Given the description of an element on the screen output the (x, y) to click on. 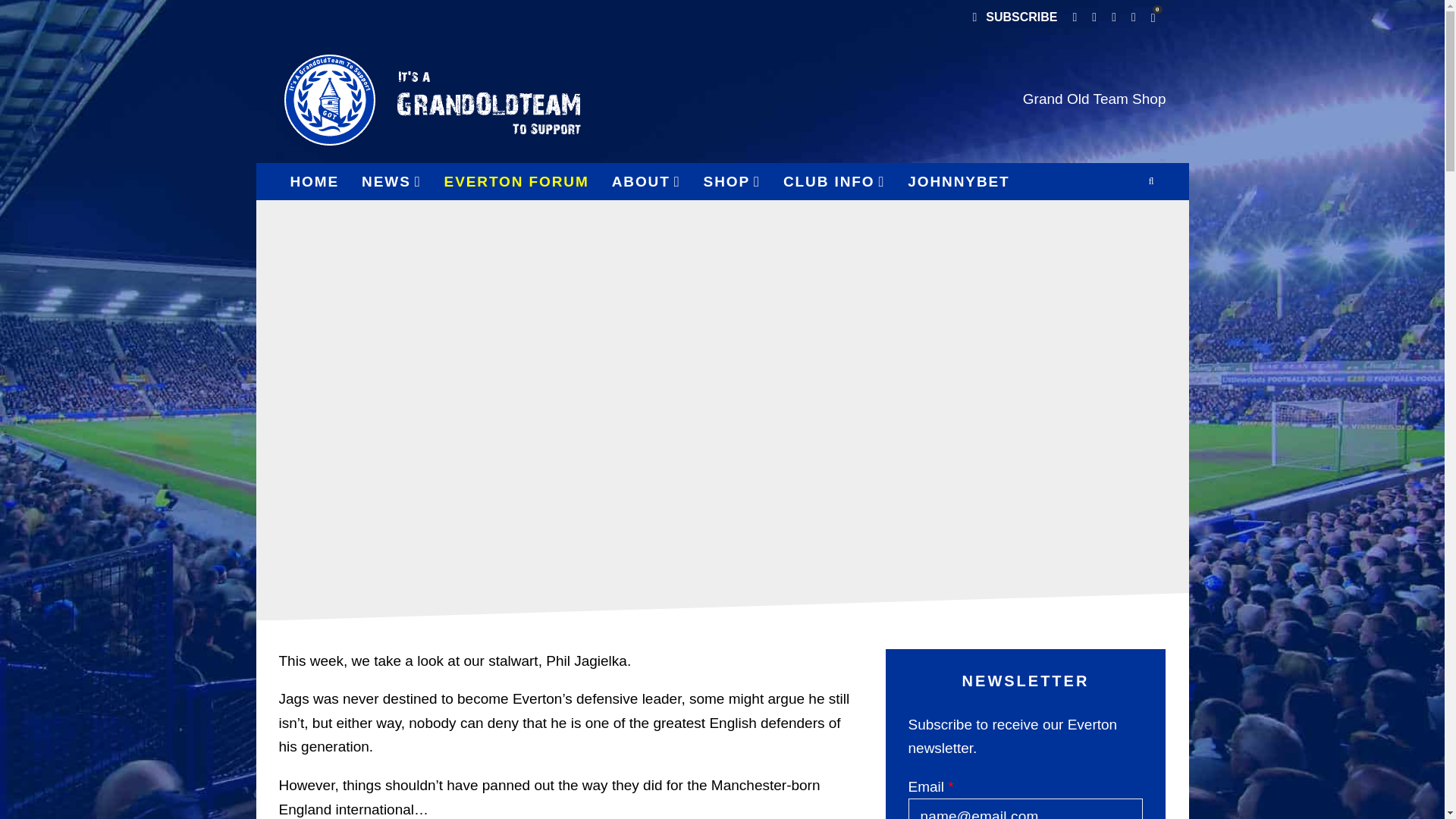
CLUB INFO (833, 181)
About (646, 181)
SHOP (732, 181)
ABOUT (646, 181)
SUBSCRIBE (1013, 18)
NEWS (391, 181)
HOME (314, 181)
Grand Old Team Shop (1094, 98)
EVERTON FORUM (515, 181)
